Given the description of an element on the screen output the (x, y) to click on. 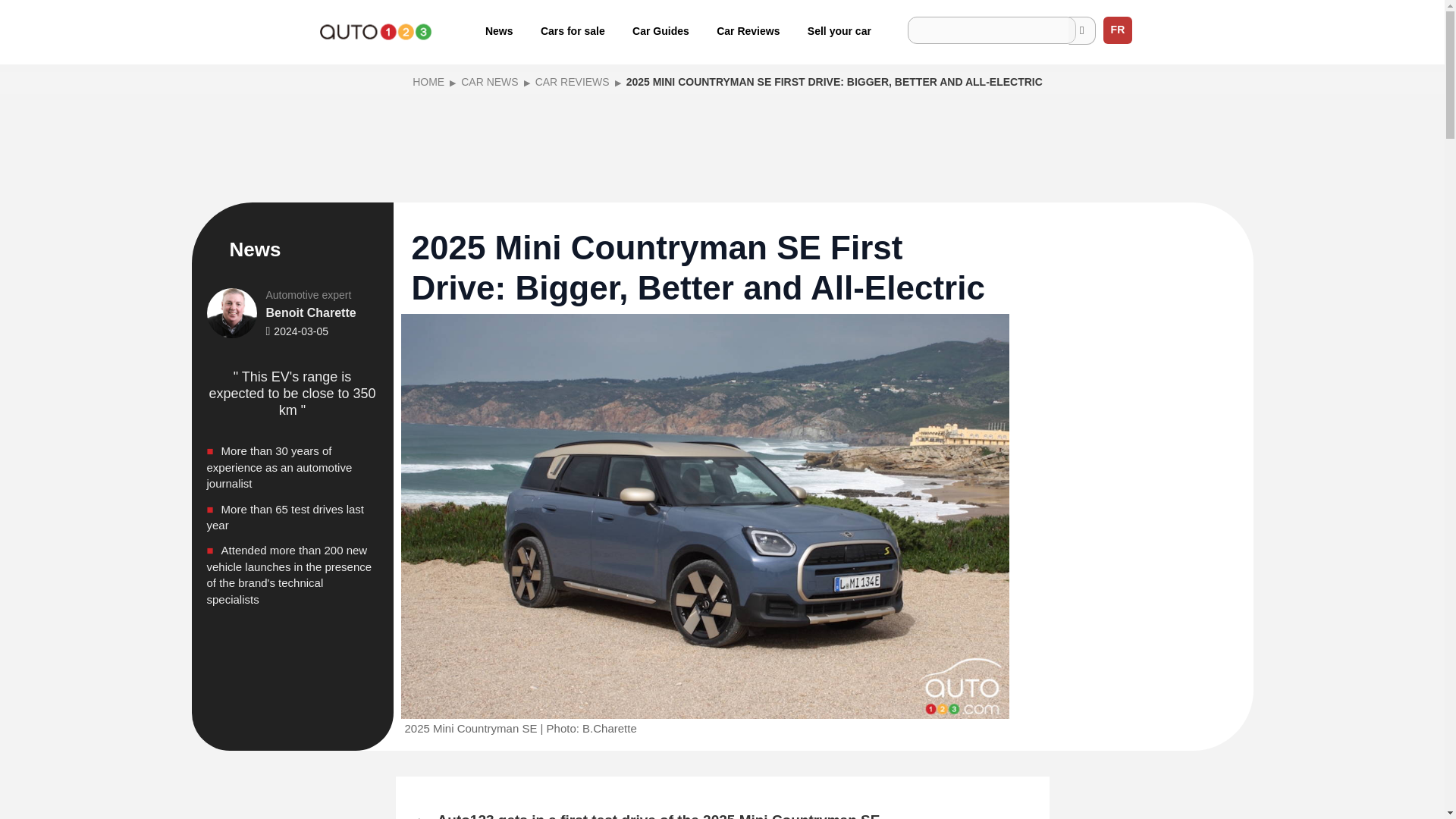
Car Guides (660, 30)
News (499, 30)
Cars for sale (572, 30)
Car Reviews (748, 30)
Car Reviews (748, 30)
Sell your car (839, 30)
Cars for sale (572, 30)
Sell your car (839, 30)
News (499, 30)
Car Guides (660, 30)
